Given the description of an element on the screen output the (x, y) to click on. 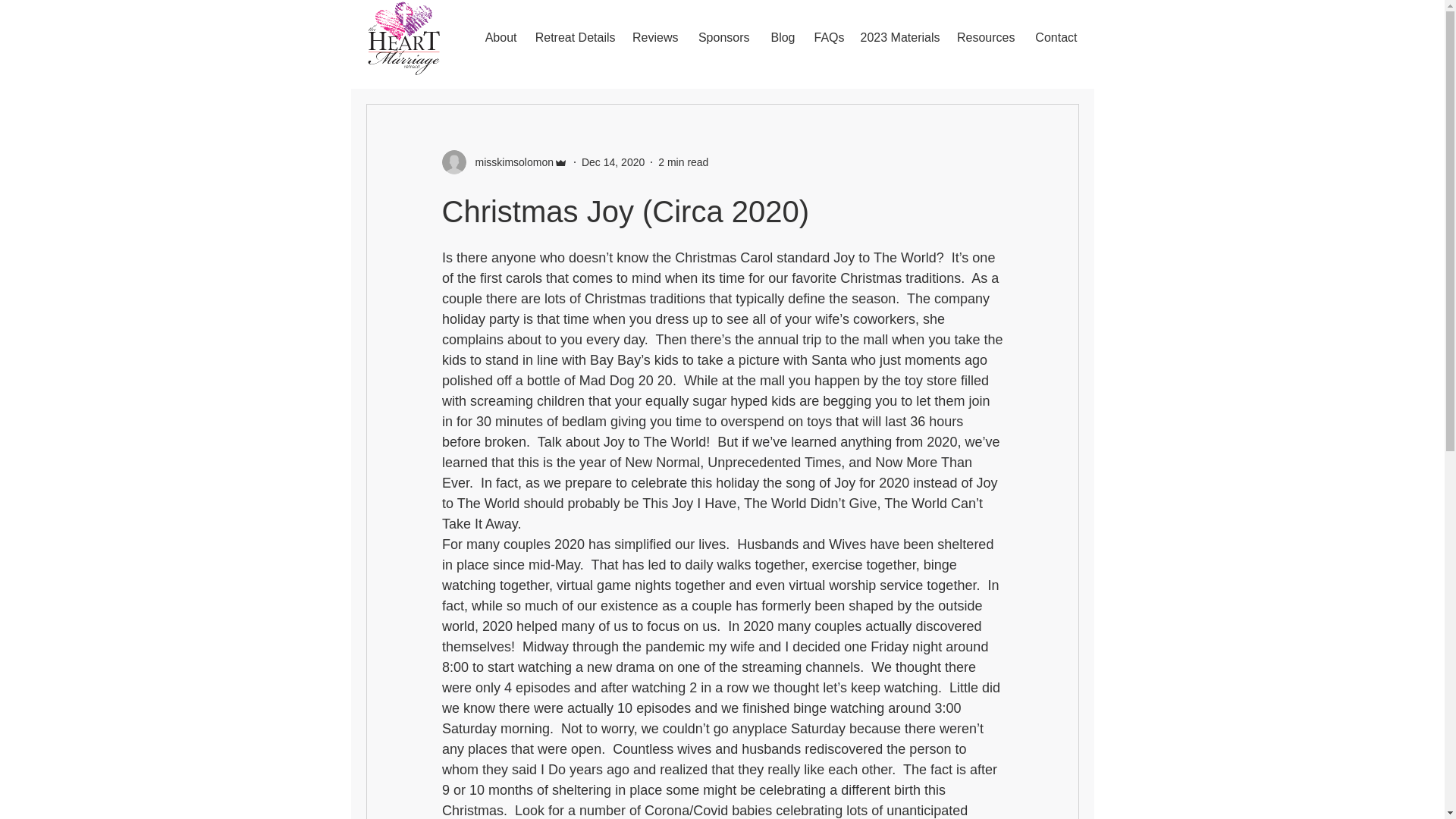
About (497, 37)
2023 Materials (899, 37)
Sponsors (721, 37)
Contact (1053, 37)
Retreat Details (573, 37)
Blog (779, 37)
2 min read (682, 162)
Dec 14, 2020 (612, 162)
misskimsolomon (509, 162)
Resources (985, 37)
